Given the description of an element on the screen output the (x, y) to click on. 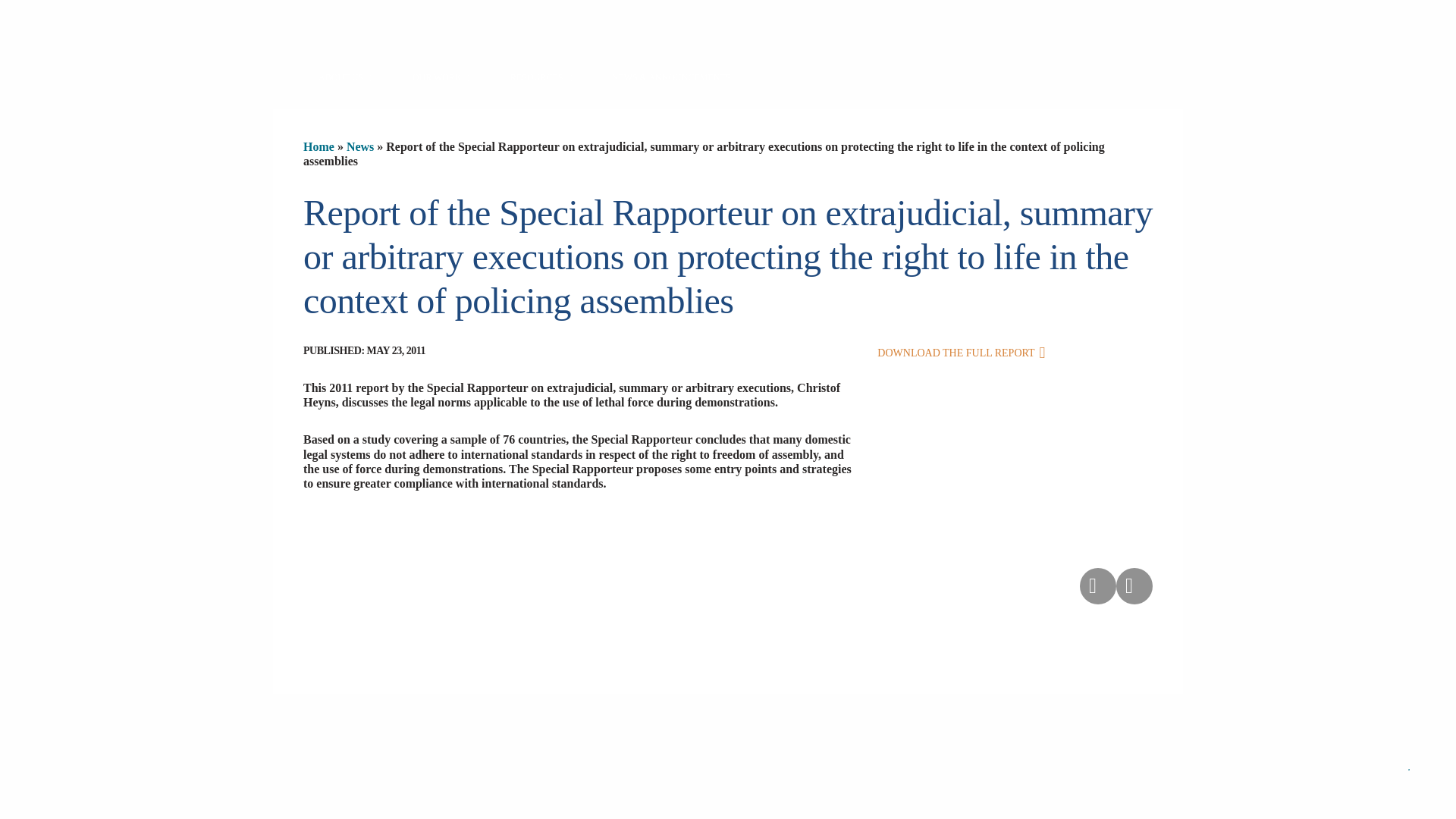
RESOURCES (541, 78)
OUR WORK (441, 78)
ICNL (397, 35)
Search (1134, 28)
ABOUT US (345, 78)
